Given the description of an element on the screen output the (x, y) to click on. 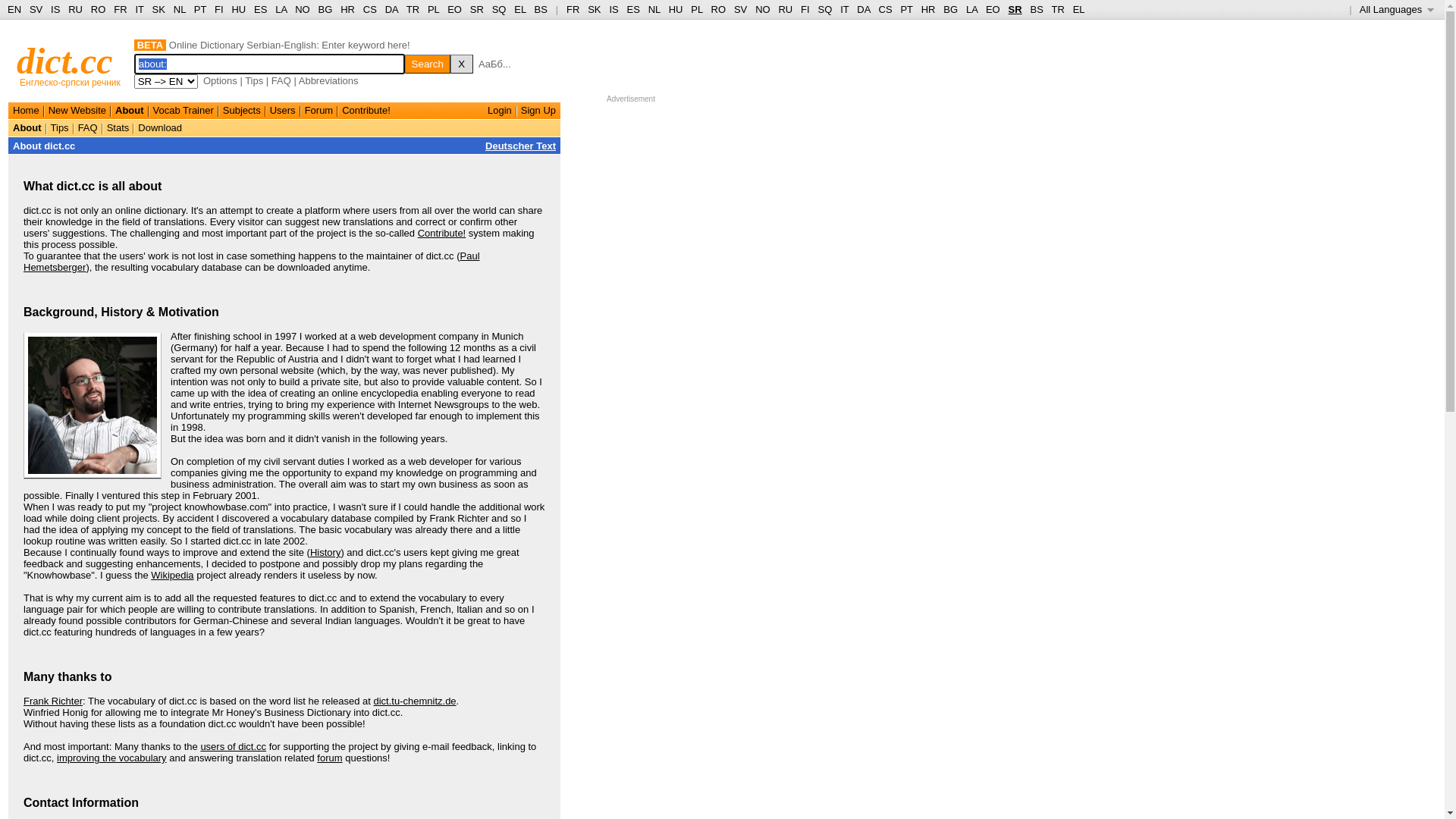
PL Element type: text (433, 9)
improving the vocabulary Element type: text (111, 757)
FI Element type: text (804, 9)
History Element type: text (325, 552)
Contribute! Element type: text (441, 232)
DA Element type: text (862, 9)
LA Element type: text (971, 9)
HU Element type: text (238, 9)
Abbreviations Element type: text (328, 80)
HU Element type: text (675, 9)
RO Element type: text (98, 9)
FAQ Element type: text (87, 127)
Tips Element type: text (59, 127)
SV Element type: text (35, 9)
EL Element type: text (1079, 9)
FAQ Element type: text (281, 80)
Tips Element type: text (253, 80)
FR Element type: text (572, 9)
CS Element type: text (884, 9)
Stats Element type: text (117, 127)
NL Element type: text (654, 9)
SV Element type: text (740, 9)
IS Element type: text (613, 9)
SR Element type: text (1015, 9)
EL Element type: text (519, 9)
IT Element type: text (138, 9)
dict.cc Element type: text (64, 60)
X Element type: text (461, 63)
Deutscher Text Element type: text (520, 144)
PT Element type: text (200, 9)
IS Element type: text (54, 9)
FR Element type: text (119, 9)
ES Element type: text (260, 9)
TR Element type: text (1057, 9)
DA Element type: text (391, 9)
HR Element type: text (928, 9)
Login Element type: text (499, 110)
PL Element type: text (696, 9)
BG Element type: text (950, 9)
Options Element type: text (220, 80)
New Website Element type: text (77, 110)
About Element type: text (129, 110)
SK Element type: text (158, 9)
EO Element type: text (454, 9)
BS Element type: text (1035, 9)
Paul Hemetsberger Element type: text (251, 261)
NO Element type: text (302, 9)
SQ Element type: text (824, 9)
About Element type: text (26, 127)
RU Element type: text (75, 9)
NO Element type: text (762, 9)
Forum Element type: text (318, 110)
All Languages  Element type: text (1396, 9)
dict.tu-chemnitz.de Element type: text (414, 700)
Vocab Trainer Element type: text (183, 110)
BS Element type: text (540, 9)
SQ Element type: text (499, 9)
TR Element type: text (412, 9)
PT Element type: text (906, 9)
Contact Information Element type: text (80, 802)
Home Element type: text (25, 110)
FI Element type: text (218, 9)
Wikipedia Element type: text (171, 574)
EO Element type: text (992, 9)
Search Element type: text (427, 63)
ES Element type: text (633, 9)
Sign Up Element type: text (537, 110)
Download Element type: text (160, 127)
SK Element type: text (593, 9)
CS Element type: text (369, 9)
forum Element type: text (329, 757)
RU Element type: text (785, 9)
users of dict.cc Element type: text (233, 746)
IT Element type: text (844, 9)
Contribute! Element type: text (366, 110)
EN Element type: text (14, 9)
BG Element type: text (325, 9)
HR Element type: text (347, 9)
LA Element type: text (280, 9)
RO Element type: text (718, 9)
Subjects Element type: text (241, 110)
Frank Richter Element type: text (52, 700)
Users Element type: text (282, 110)
SR Element type: text (476, 9)
NL Element type: text (179, 9)
